Given the description of an element on the screen output the (x, y) to click on. 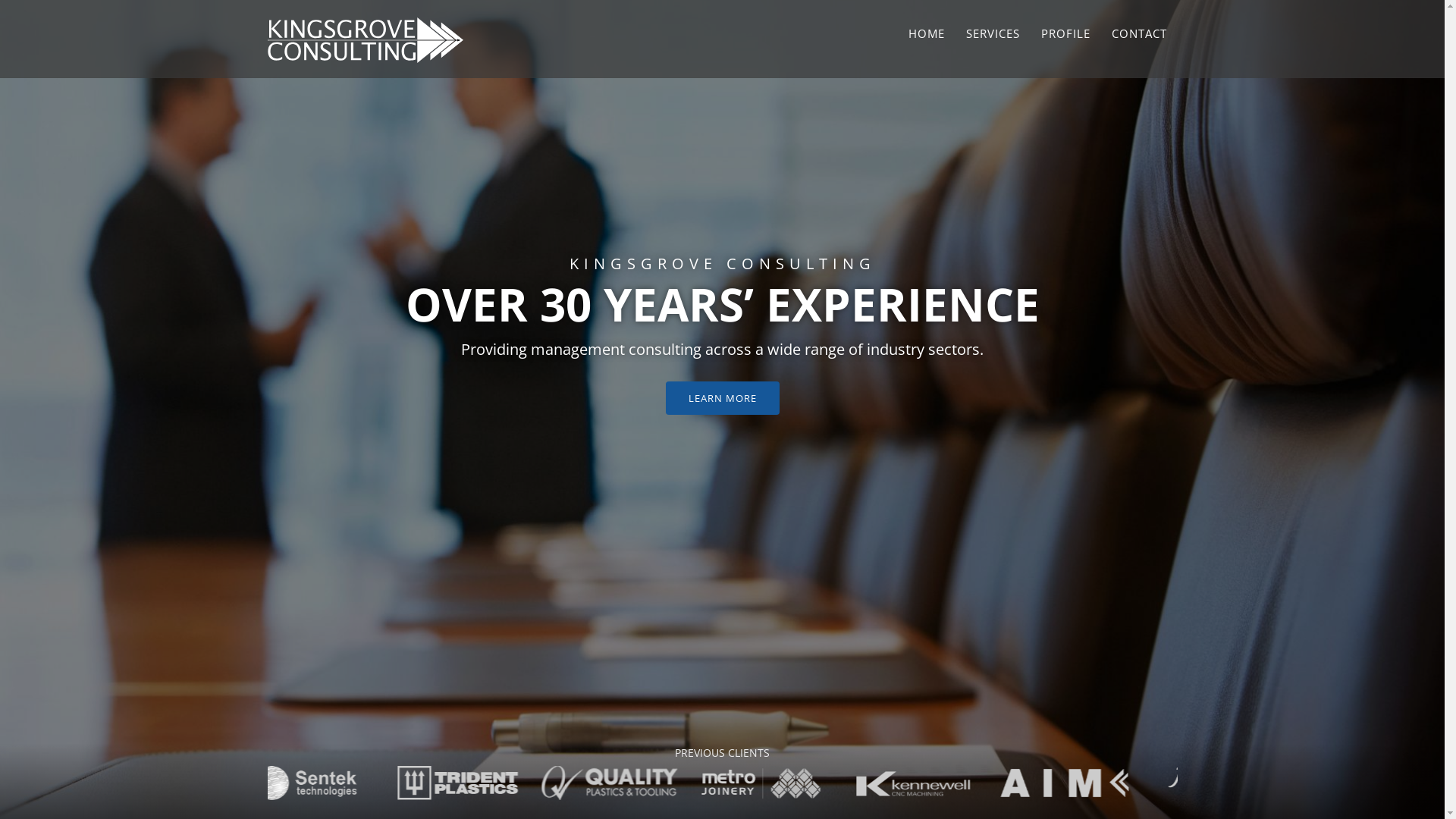
CONTACT Element type: text (1139, 33)
PROFILE Element type: text (1064, 33)
HOME Element type: text (926, 33)
LEARN MORE Element type: text (722, 397)
SERVICES Element type: text (992, 33)
